Given the description of an element on the screen output the (x, y) to click on. 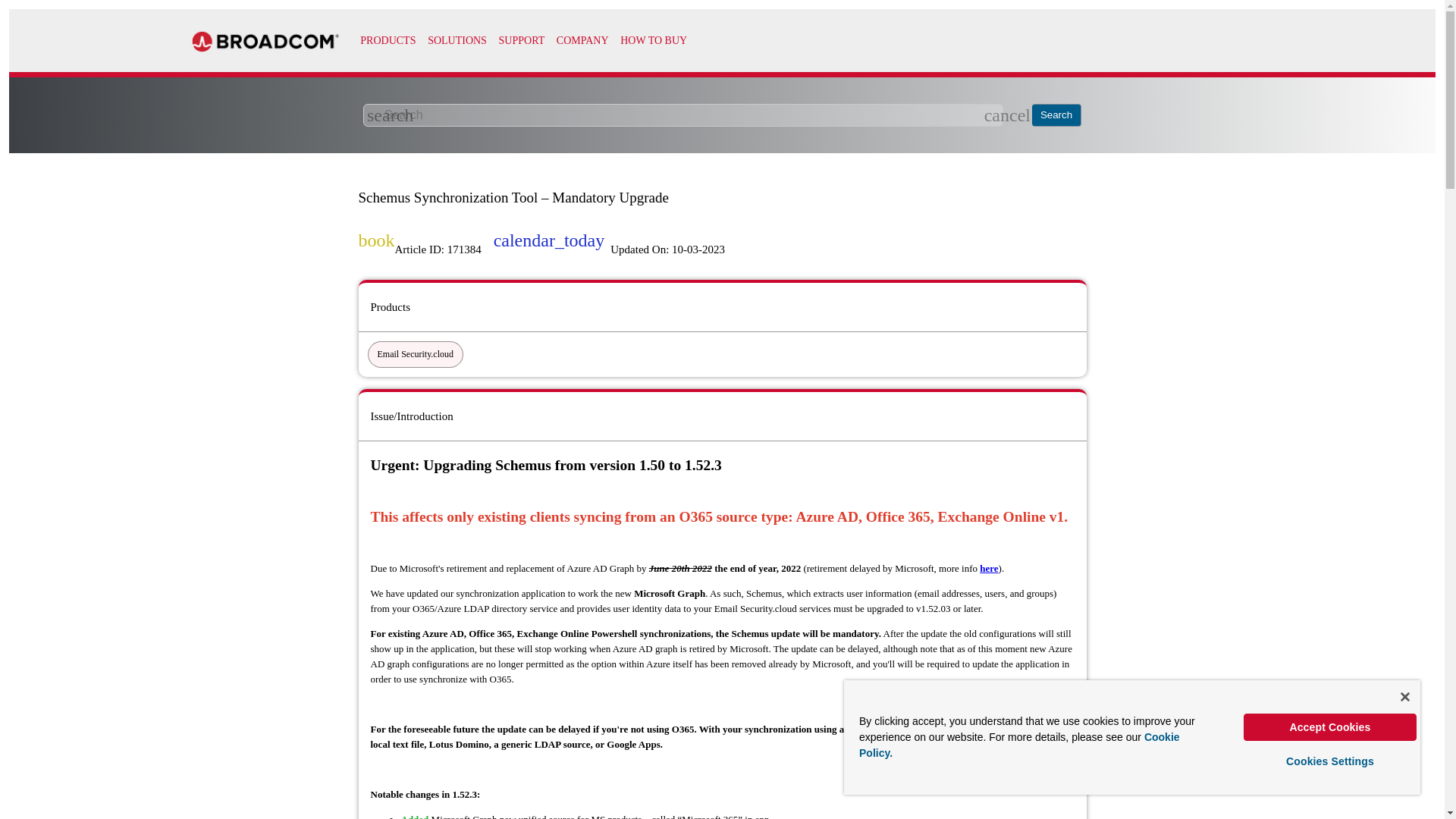
Cookies Settings (1329, 760)
Accept Cookies (1329, 727)
Cookie Policy. (1019, 745)
Search (1056, 115)
here (988, 568)
